Given the description of an element on the screen output the (x, y) to click on. 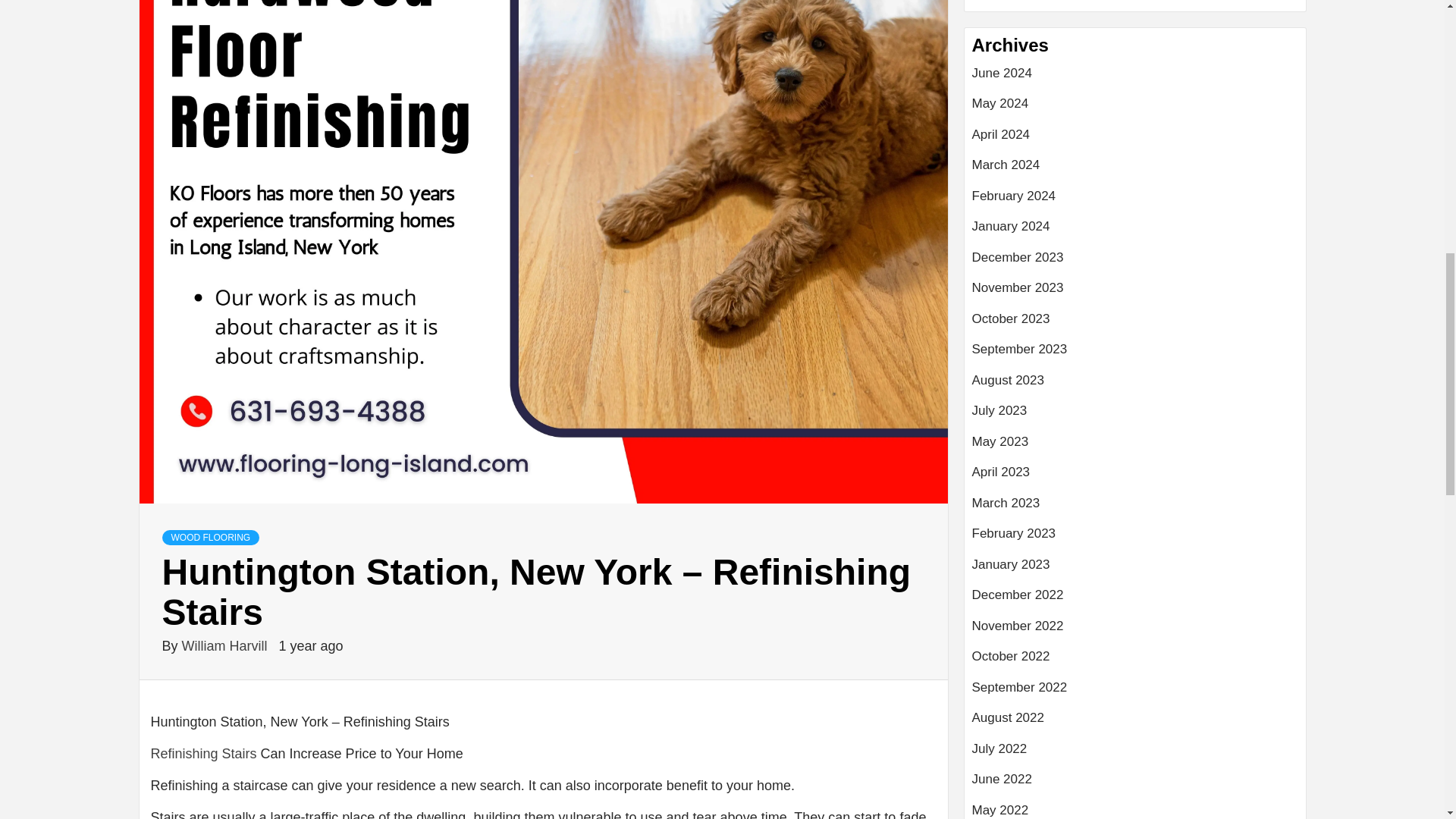
WOOD FLOORING (210, 537)
William Harvill (226, 645)
Refinishing Stairs (202, 753)
